Given the description of an element on the screen output the (x, y) to click on. 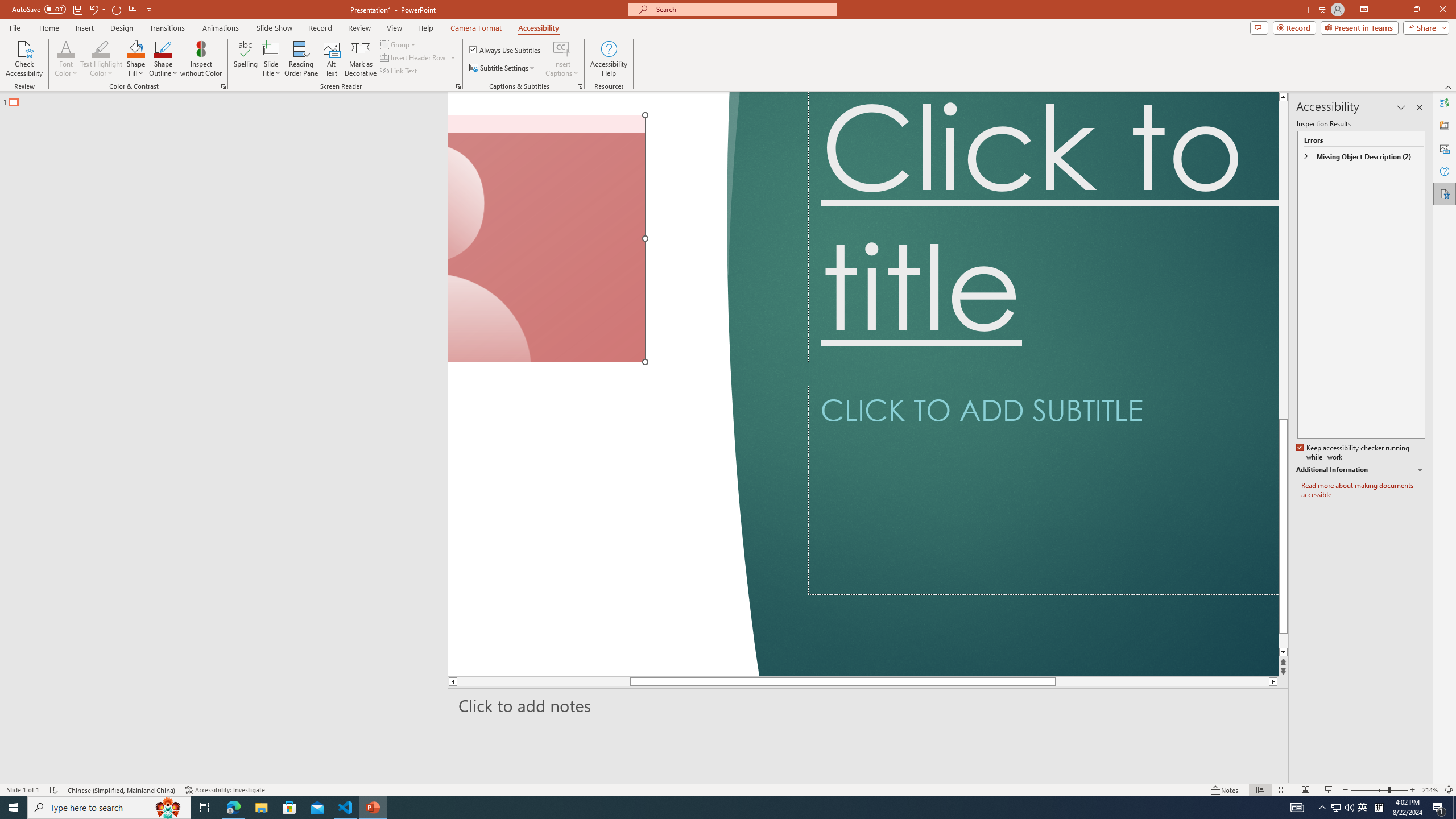
Link Text (399, 69)
